Given the description of an element on the screen output the (x, y) to click on. 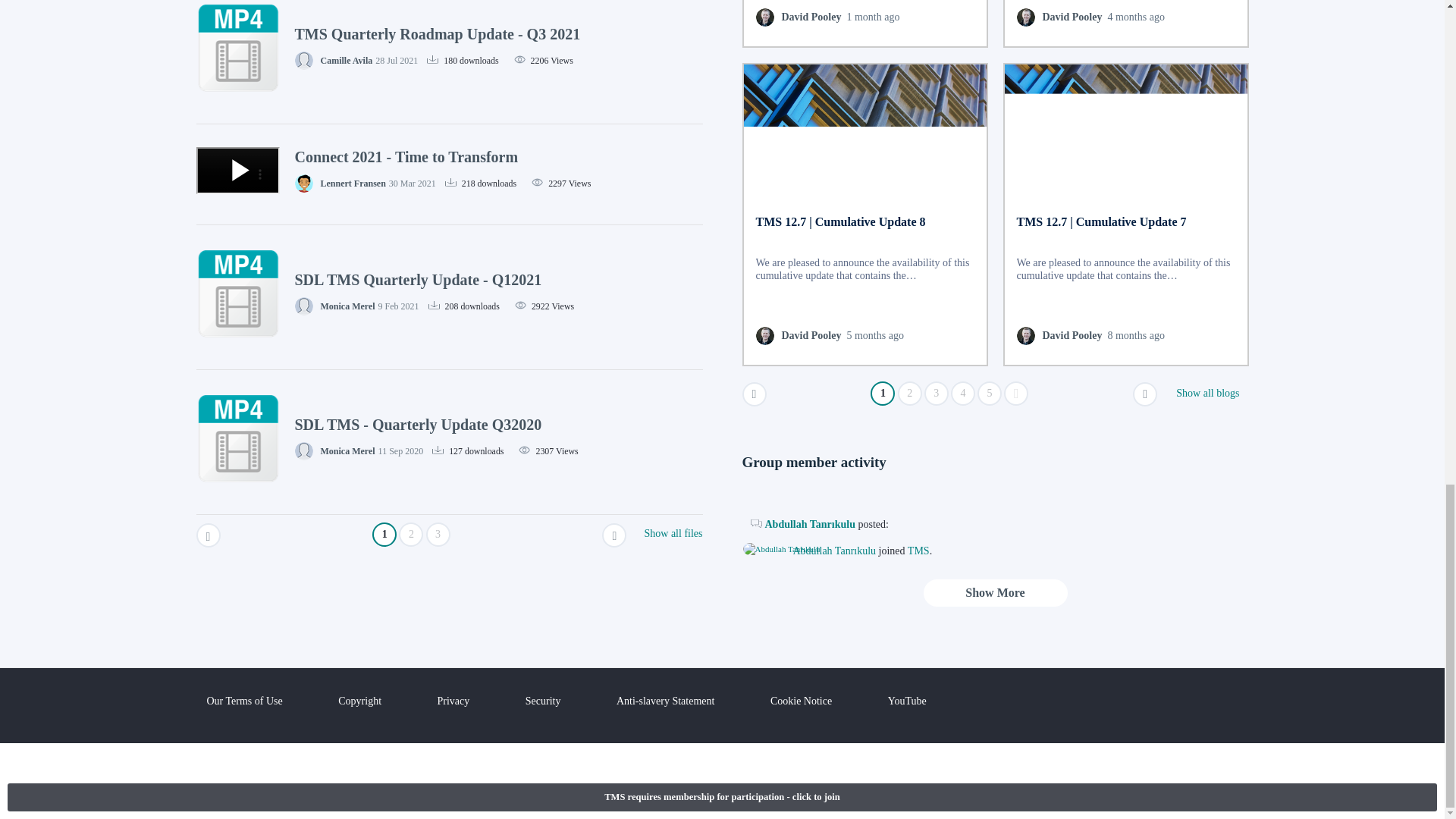
Go to next page (1144, 394)
Go to page 2 (909, 393)
Go to page 5 (988, 393)
Go to page 3 (936, 393)
Go to page 1 (882, 393)
Go to last page (1015, 393)
Go to page 4 (962, 393)
